Given the description of an element on the screen output the (x, y) to click on. 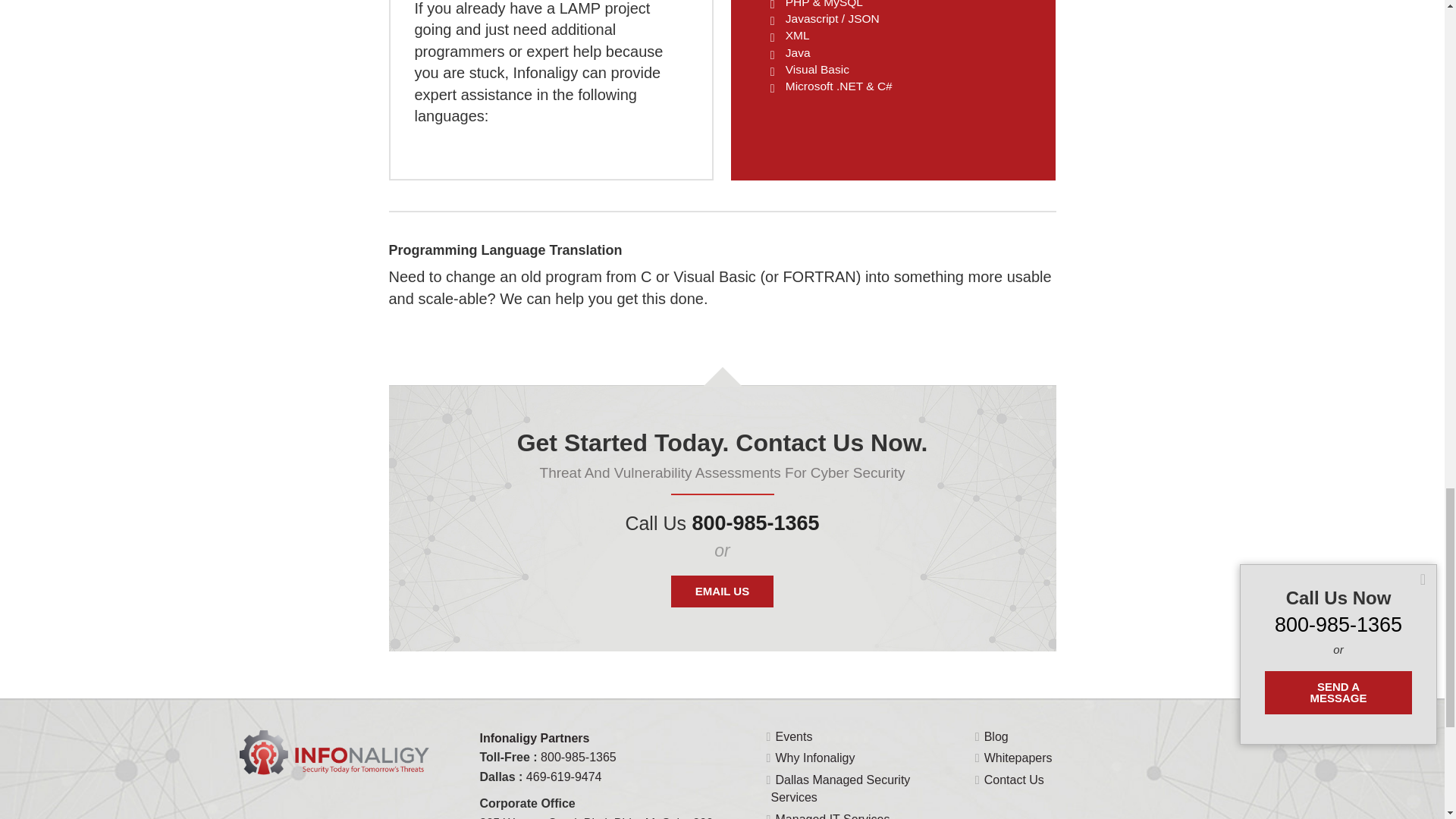
800-985-1365 (577, 757)
800-985-1365 (754, 522)
Infonaligy Partners (600, 746)
469-619-9474 (563, 776)
EMAIL US (722, 591)
